Given the description of an element on the screen output the (x, y) to click on. 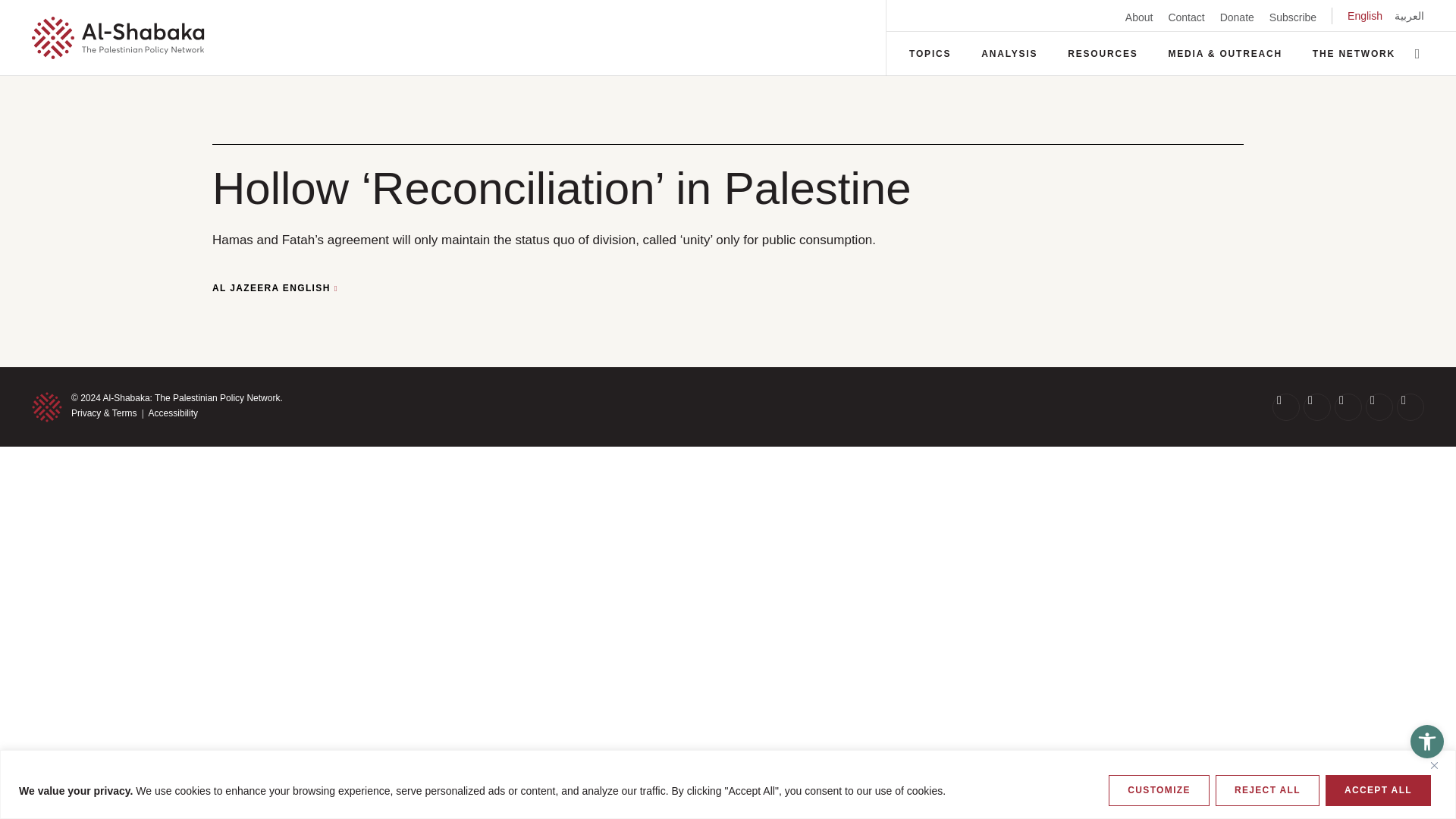
English (1364, 15)
About (1139, 17)
ANALYSIS (1008, 53)
Subscribe (1292, 17)
Contact (1185, 17)
TOPICS (929, 53)
Donate (1236, 17)
